Given the description of an element on the screen output the (x, y) to click on. 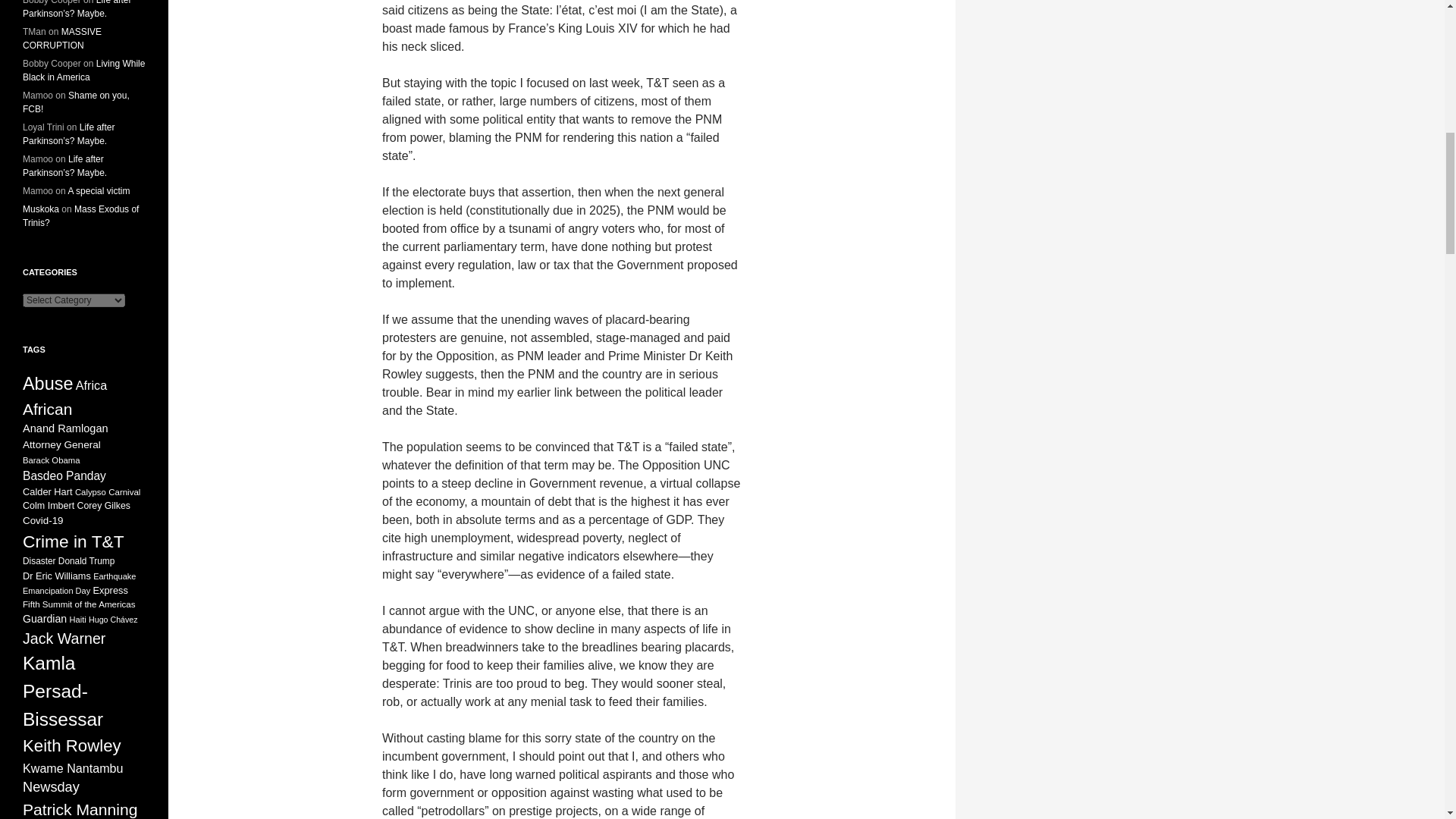
Shame on you, FCB! (76, 102)
MASSIVE CORRUPTION (62, 38)
Living While Black in America (83, 70)
